Given the description of an element on the screen output the (x, y) to click on. 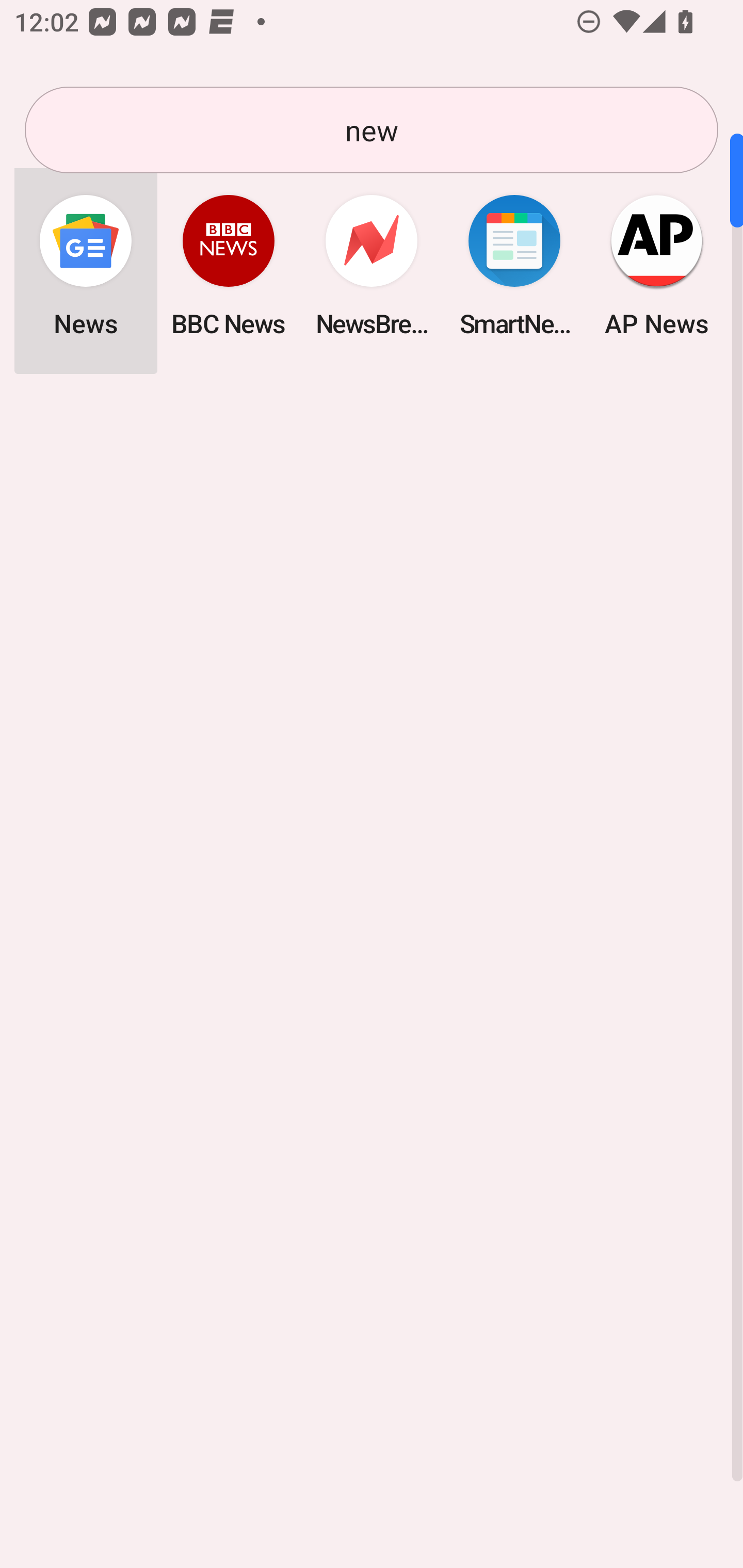
new (371, 130)
News (85, 264)
BBC News (228, 264)
NewsBreak (371, 264)
SmartNews (514, 264)
AP News (656, 264)
